Given the description of an element on the screen output the (x, y) to click on. 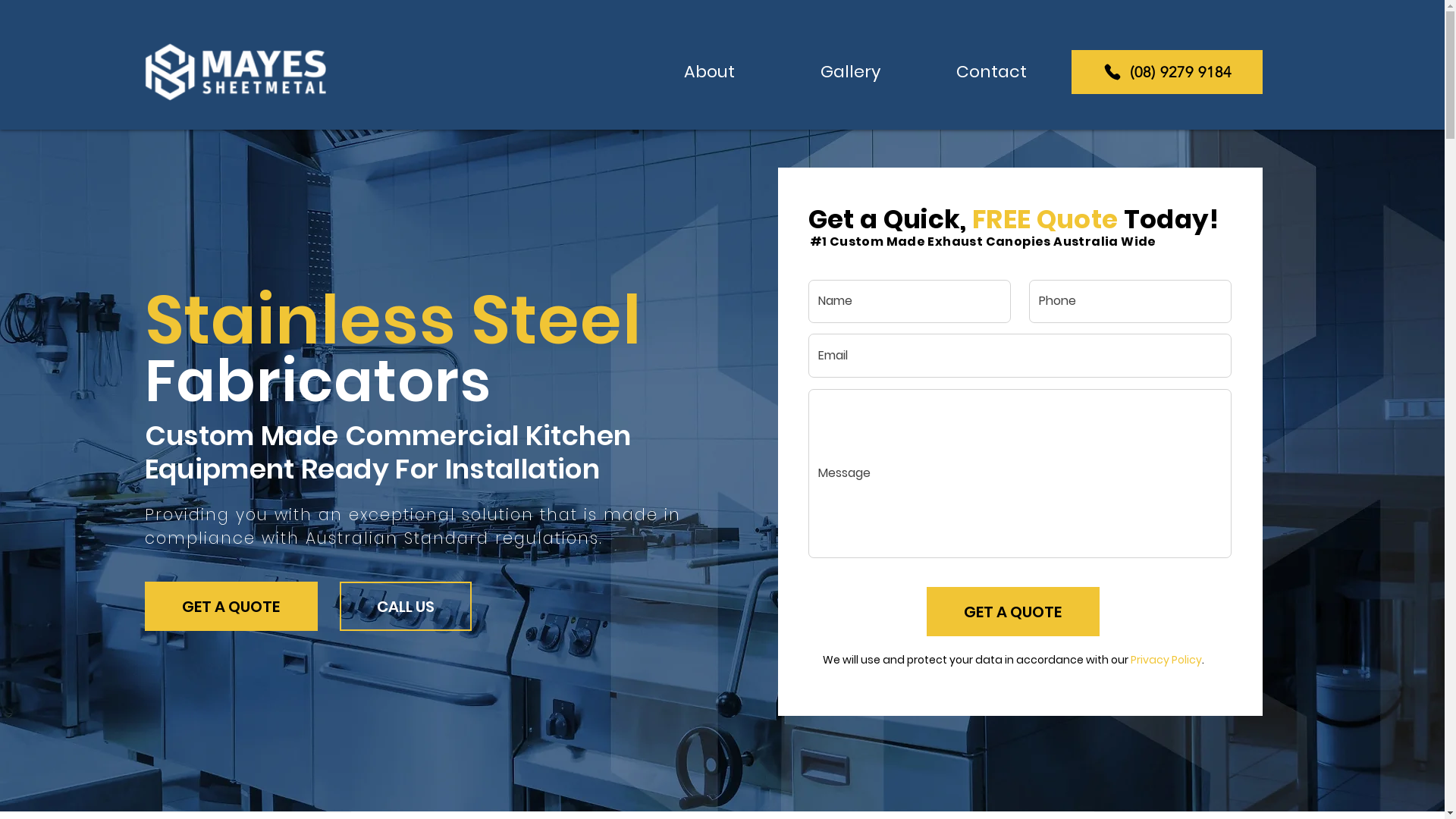
GET A QUOTE Element type: text (230, 605)
About Element type: text (708, 71)
Contact Element type: text (990, 71)
CALL US Element type: text (405, 605)
(08) 9279 9184 Element type: text (1165, 72)
Gallery Element type: text (849, 71)
GET A QUOTE Element type: text (1012, 611)
